Given the description of an element on the screen output the (x, y) to click on. 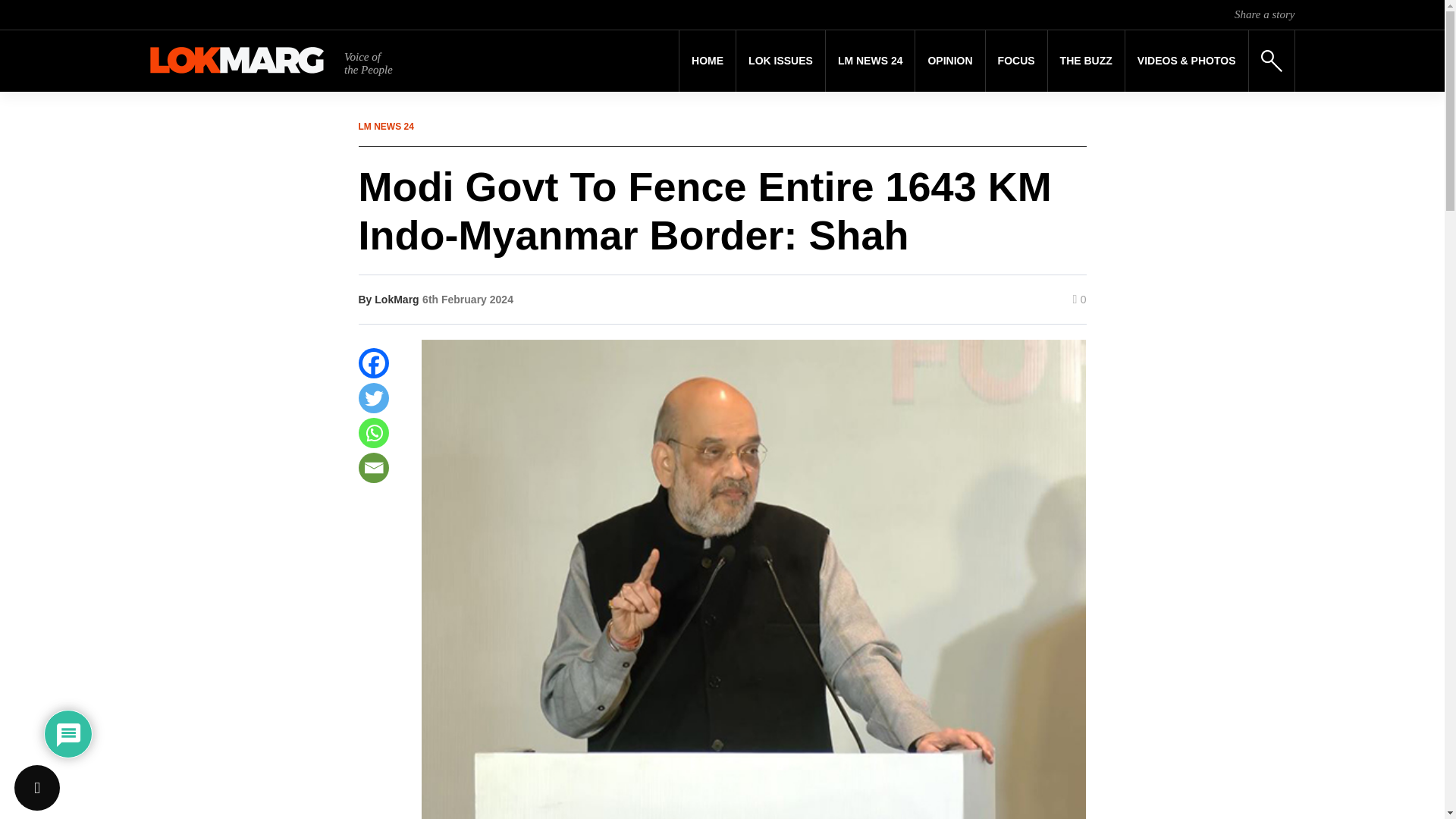
Whatsapp (373, 432)
OPINION (949, 60)
Home (707, 60)
Opinion (949, 60)
LM News 24 (870, 60)
THE BUZZ (1086, 60)
LM NEWS 24 (870, 60)
Focus (1015, 60)
LOK ISSUES (780, 60)
THE BUZZ (1086, 60)
Twitter (373, 398)
HOME (707, 60)
Share a story (1264, 14)
Lok Issues (780, 60)
LokMarg (396, 299)
